Given the description of an element on the screen output the (x, y) to click on. 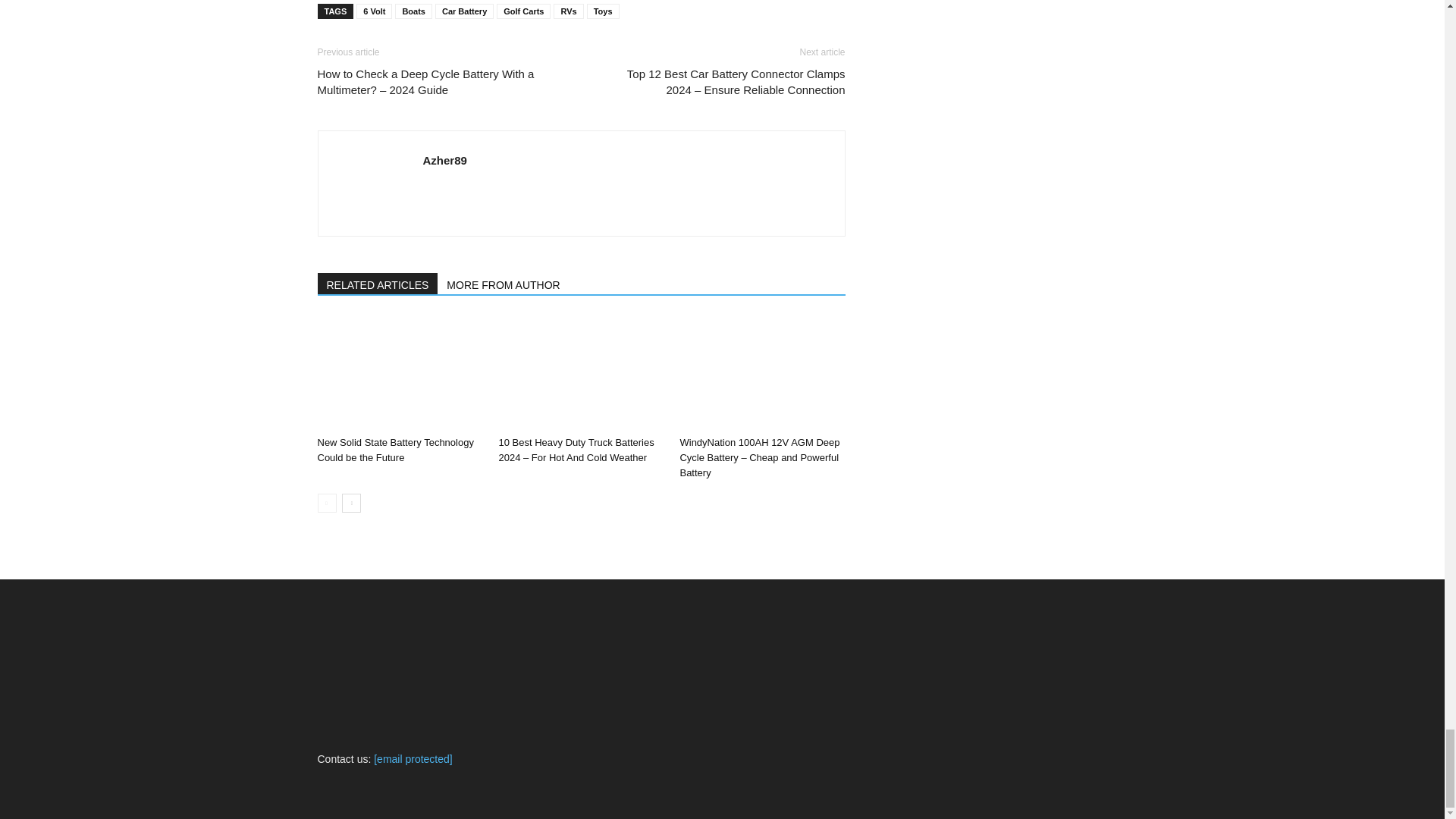
6 Volt (373, 11)
